Given the description of an element on the screen output the (x, y) to click on. 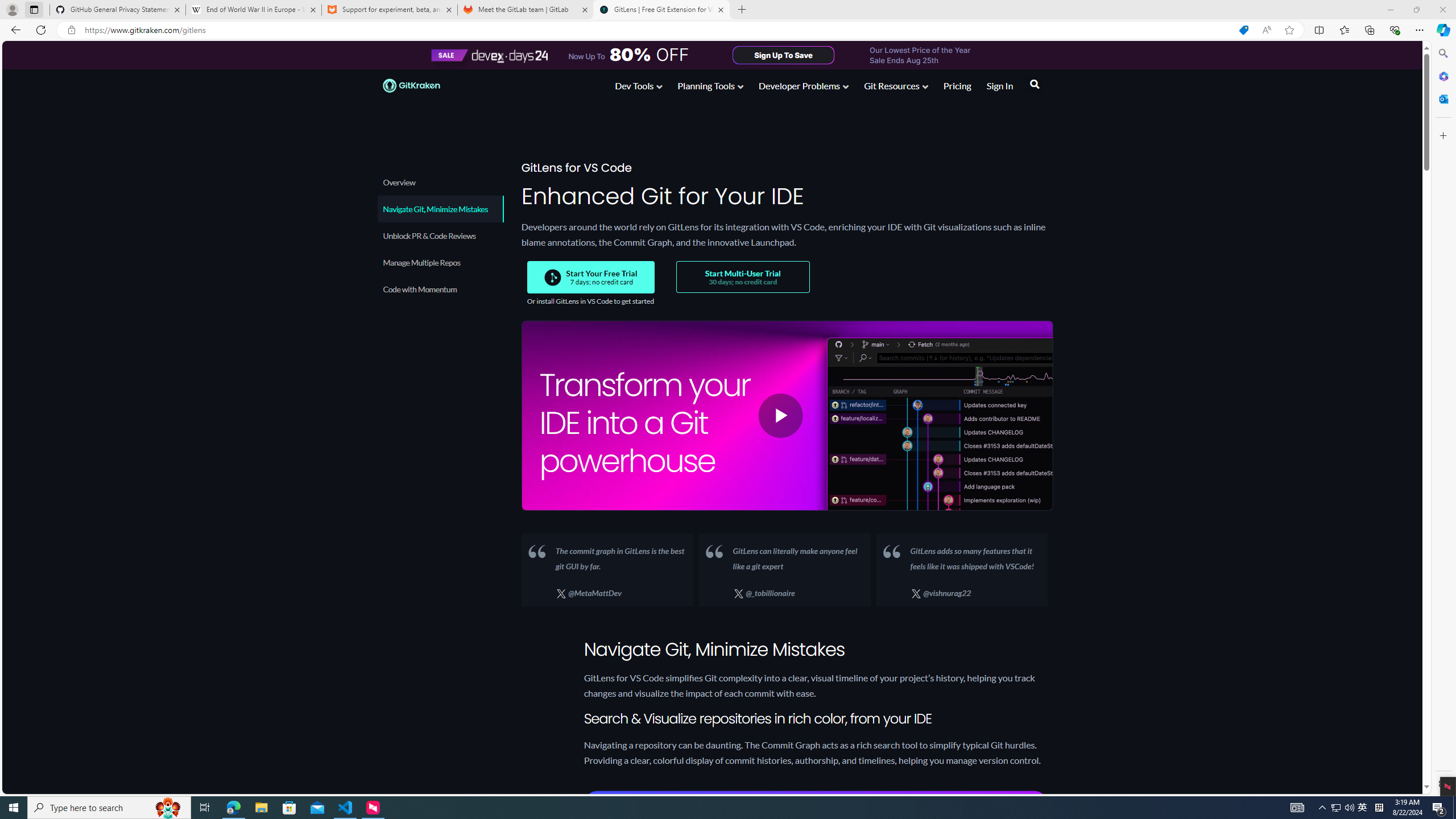
Running applications (707, 807)
Sign In (999, 87)
Sign Up To Save (1362, 807)
Unblock PR & Code Reviews (783, 54)
Code with Momentum (440, 235)
